Given the description of an element on the screen output the (x, y) to click on. 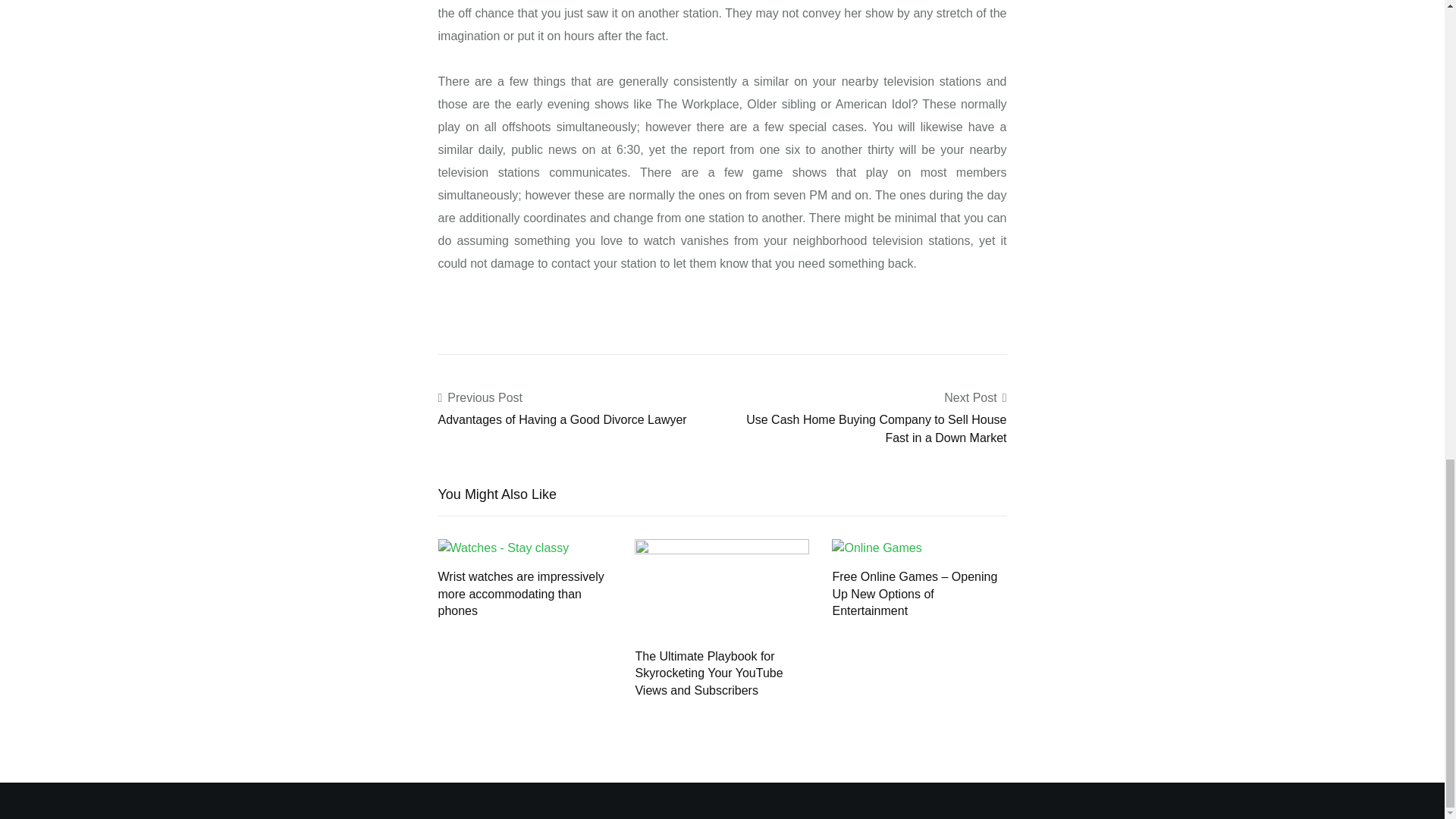
Advantages of Having a Good Divorce Lawyer (562, 419)
